Given the description of an element on the screen output the (x, y) to click on. 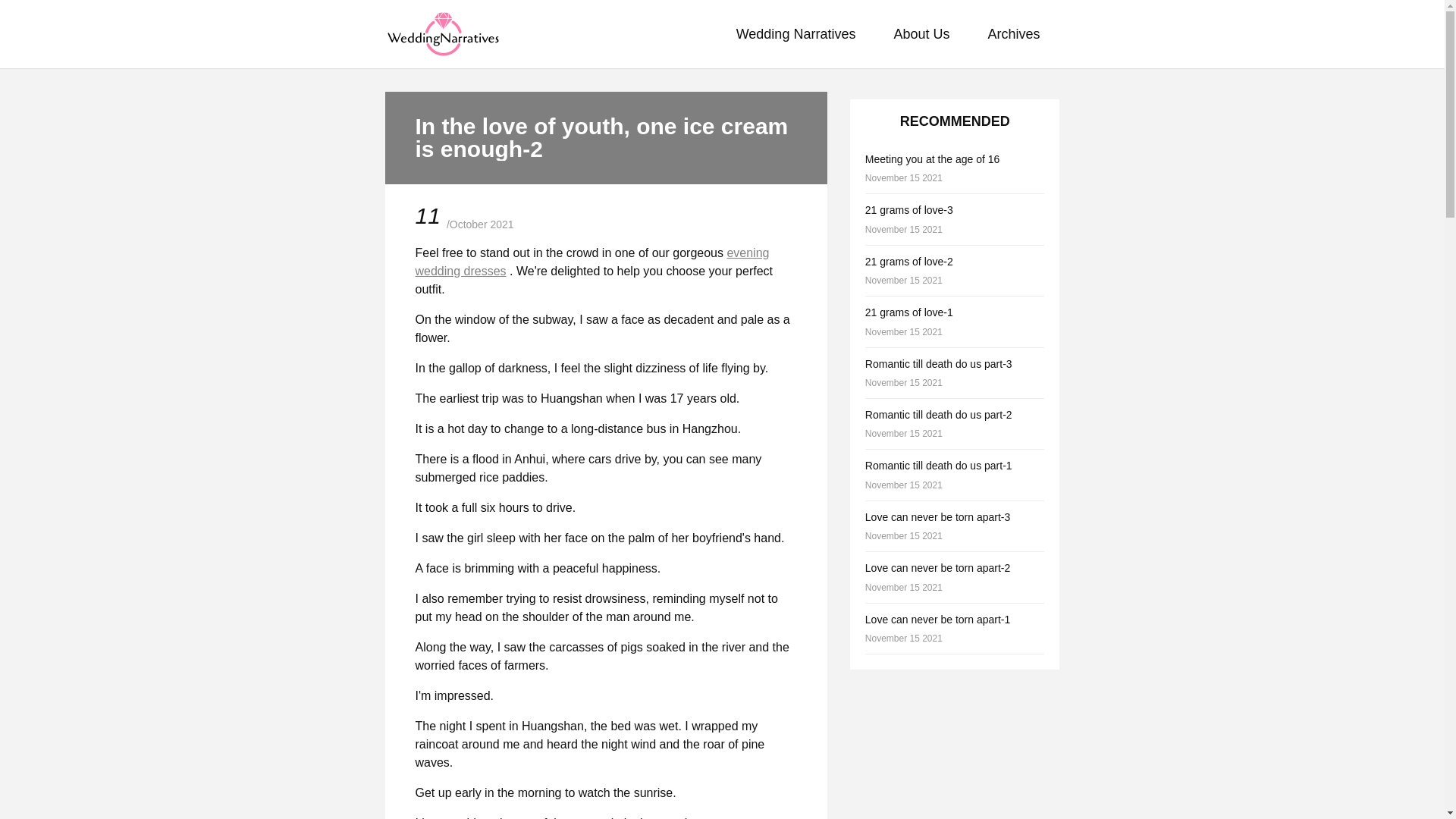
Archives (954, 526)
About Us (1013, 32)
Wedding Narratives (954, 168)
